Given the description of an element on the screen output the (x, y) to click on. 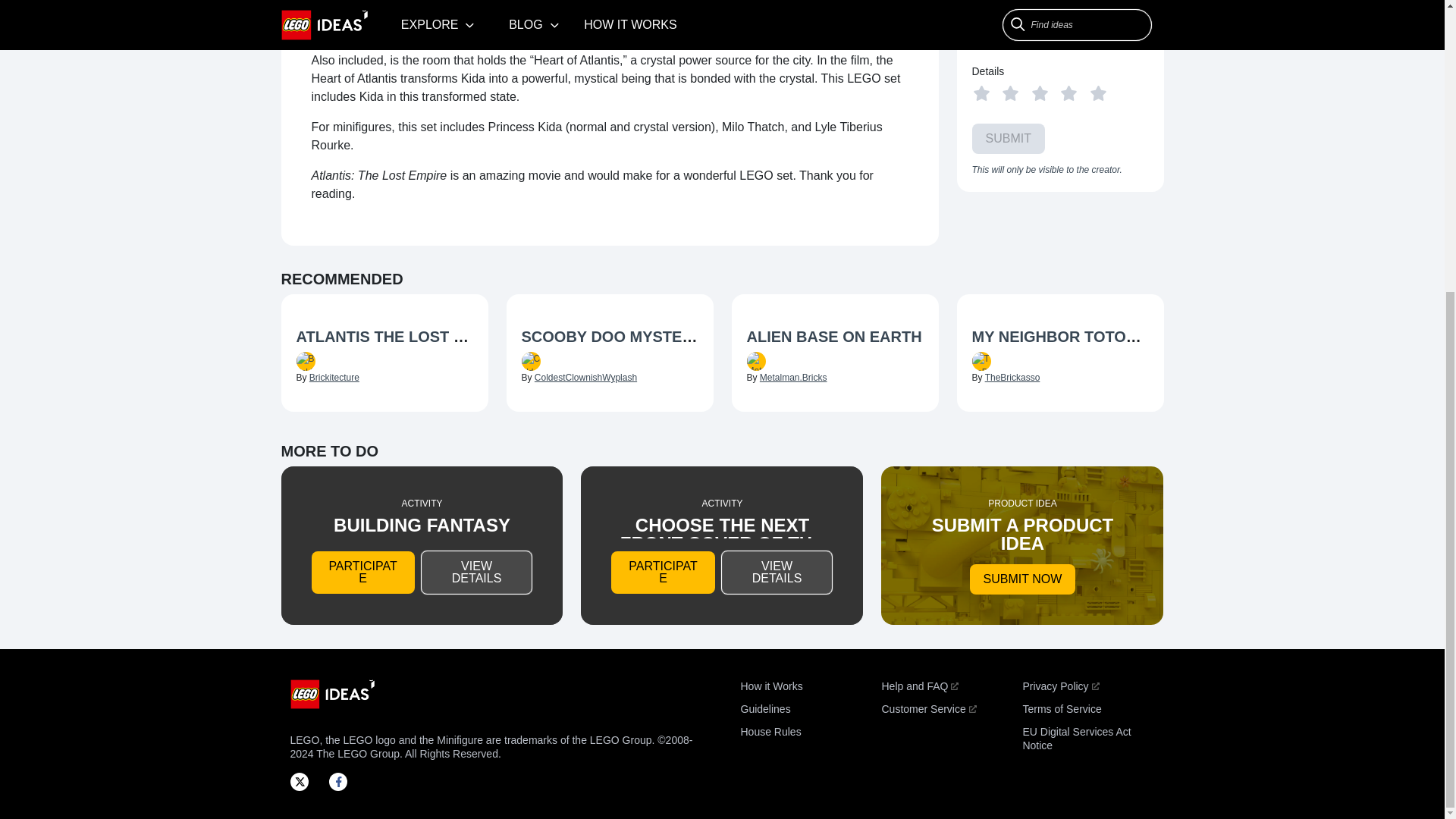
Atlantis the Lost Empire - Welcome to the City of Atlantis (383, 337)
Alien Base on Earth (834, 337)
SUBMIT (1008, 138)
Brickitecture (333, 377)
Scooby Doo Mystery Inc. (609, 337)
ALIEN BASE ON EARTH (833, 336)
MY NEIGHBOR TOTORO (1060, 336)
ATLANTIS THE LOST EMPIRE - WELCOME TO THE CITY OF ATLANTIS (550, 336)
SCOOBY DOO MYSTERY INC. (628, 336)
X (303, 781)
